Given the description of an element on the screen output the (x, y) to click on. 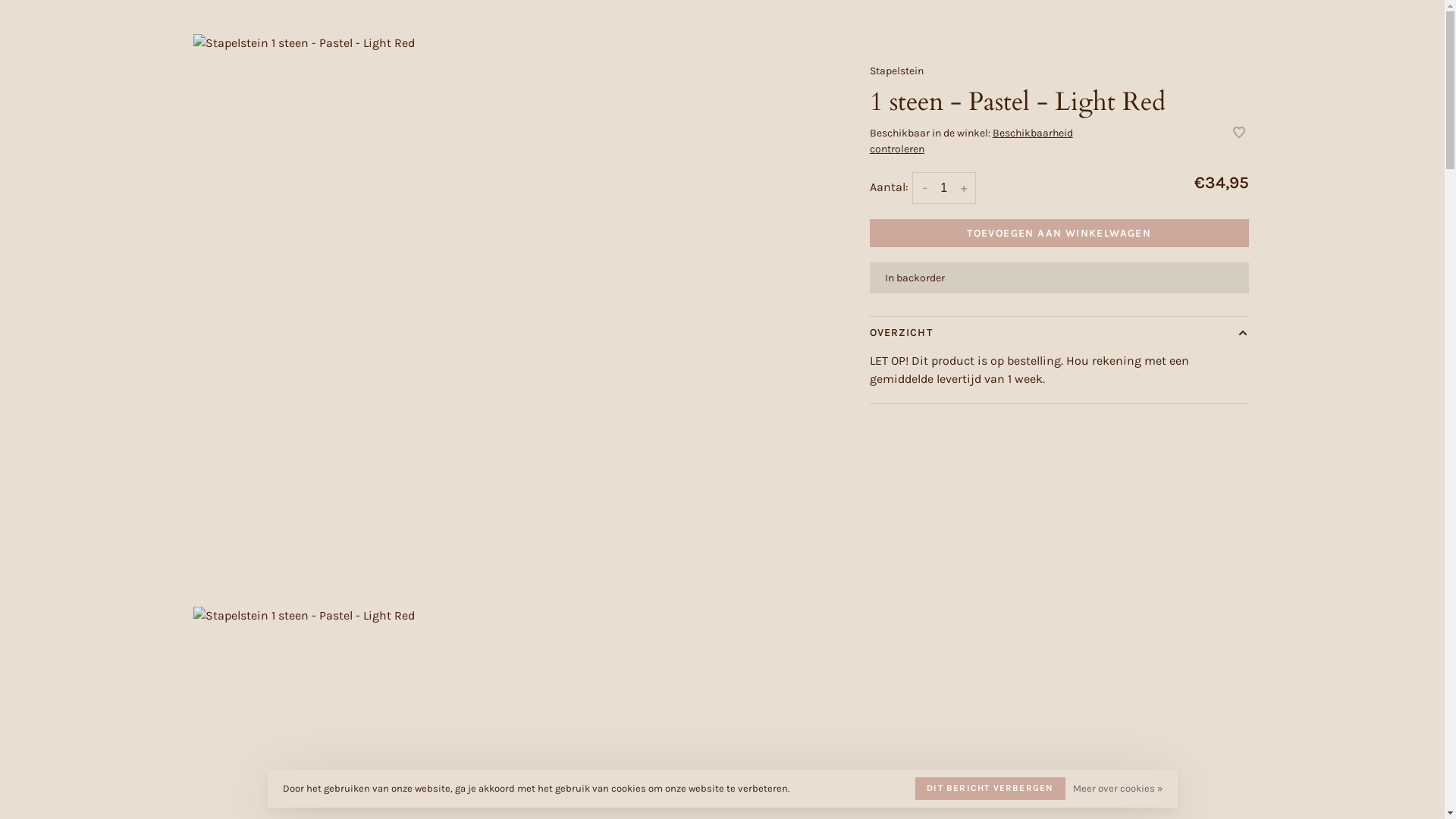
+ Element type: text (963, 187)
DIT BERICHT VERBERGEN Element type: text (989, 788)
- Element type: text (925, 187)
TOEVOEGEN AAN WINKELWAGEN Element type: text (1058, 233)
Aan verlanglijst toevoegen Element type: hover (1239, 133)
Stapelstein Element type: text (896, 70)
OVERZICHT Element type: text (1058, 332)
